Given the description of an element on the screen output the (x, y) to click on. 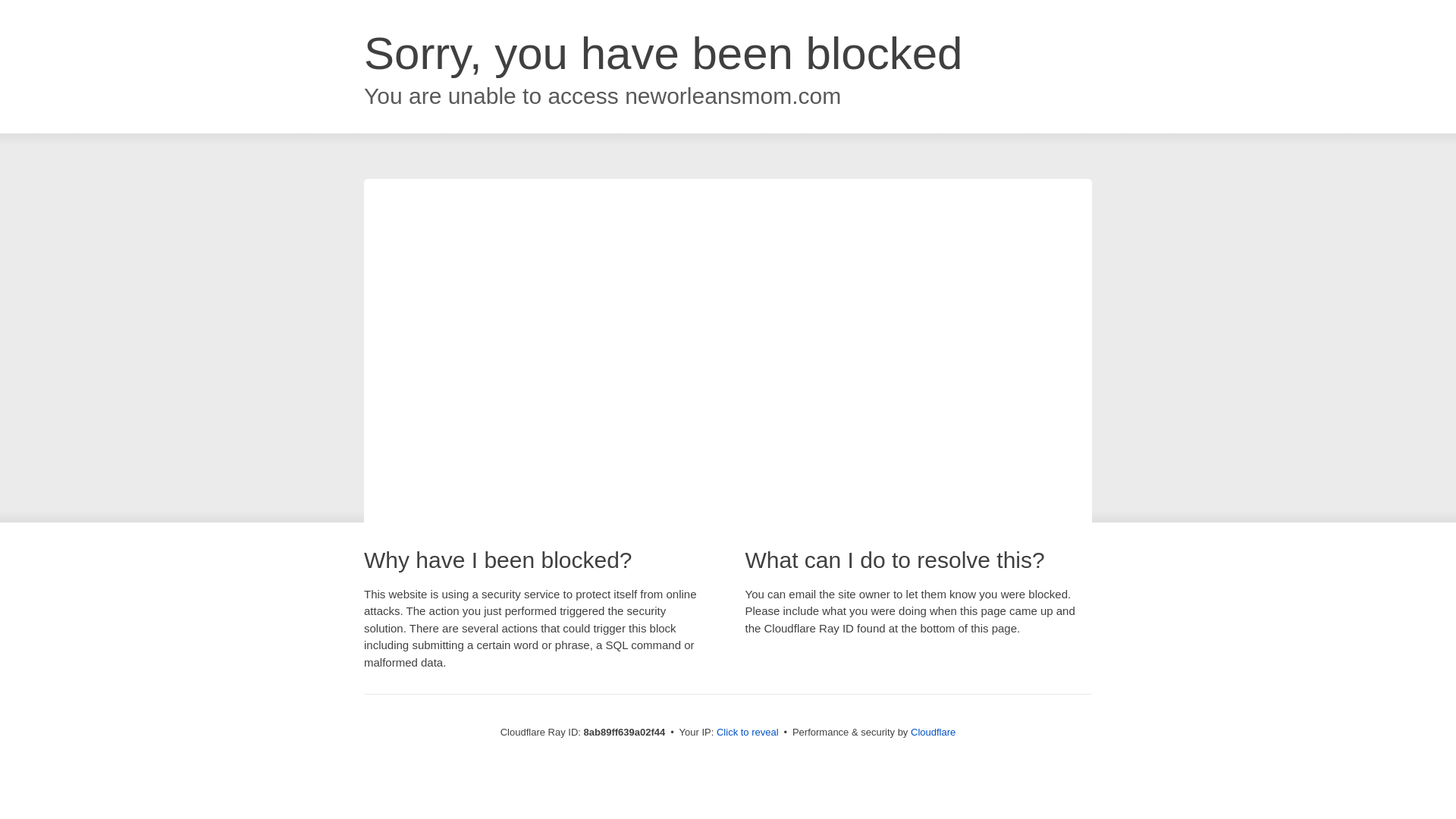
Click to reveal (747, 732)
Cloudflare (933, 731)
